Given the description of an element on the screen output the (x, y) to click on. 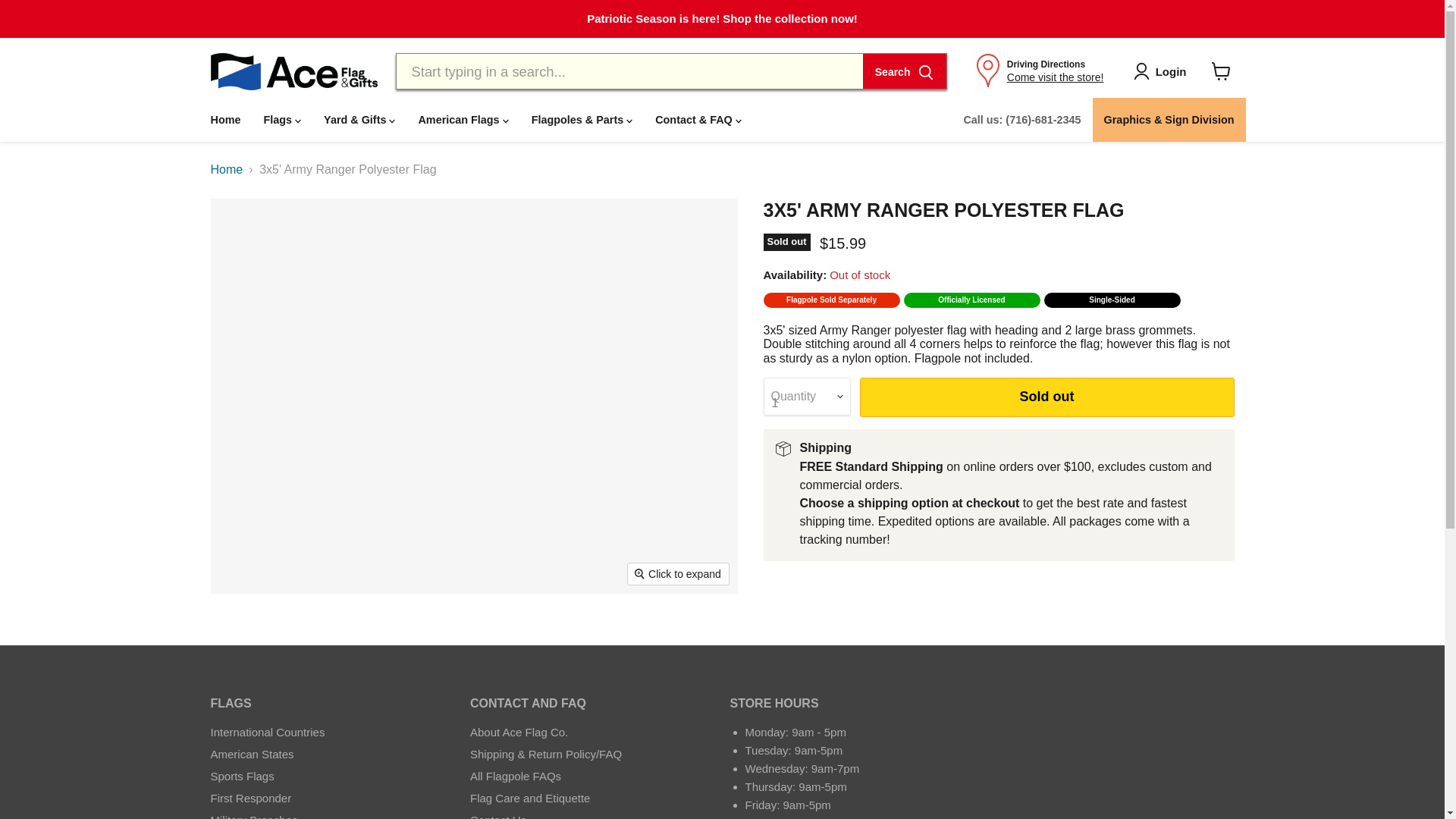
Login (1163, 71)
Come visit the store! (1055, 77)
View cart (1221, 70)
Driving Directions (1045, 64)
Come visit the store! (1055, 77)
Home (224, 119)
Search (904, 71)
